Given the description of an element on the screen output the (x, y) to click on. 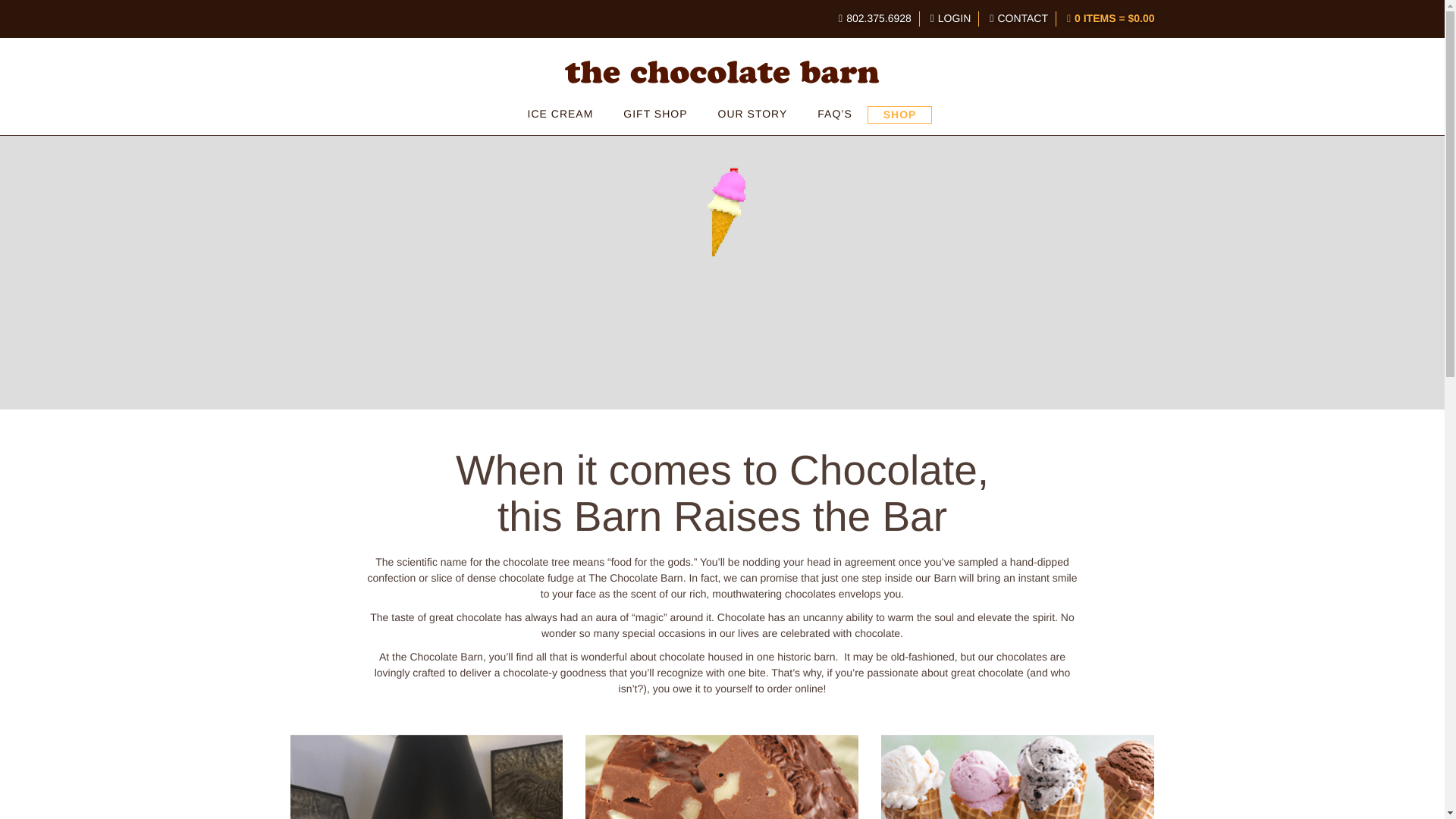
Shop (900, 114)
FAQ'S (834, 114)
Ice Cream (560, 114)
Our Story (753, 114)
Start shopping (1114, 18)
GIFT SHOP (654, 114)
Gift Shop (654, 114)
SHOP (900, 114)
CONTACT (1022, 18)
OUR STORY (753, 114)
